Given the description of an element on the screen output the (x, y) to click on. 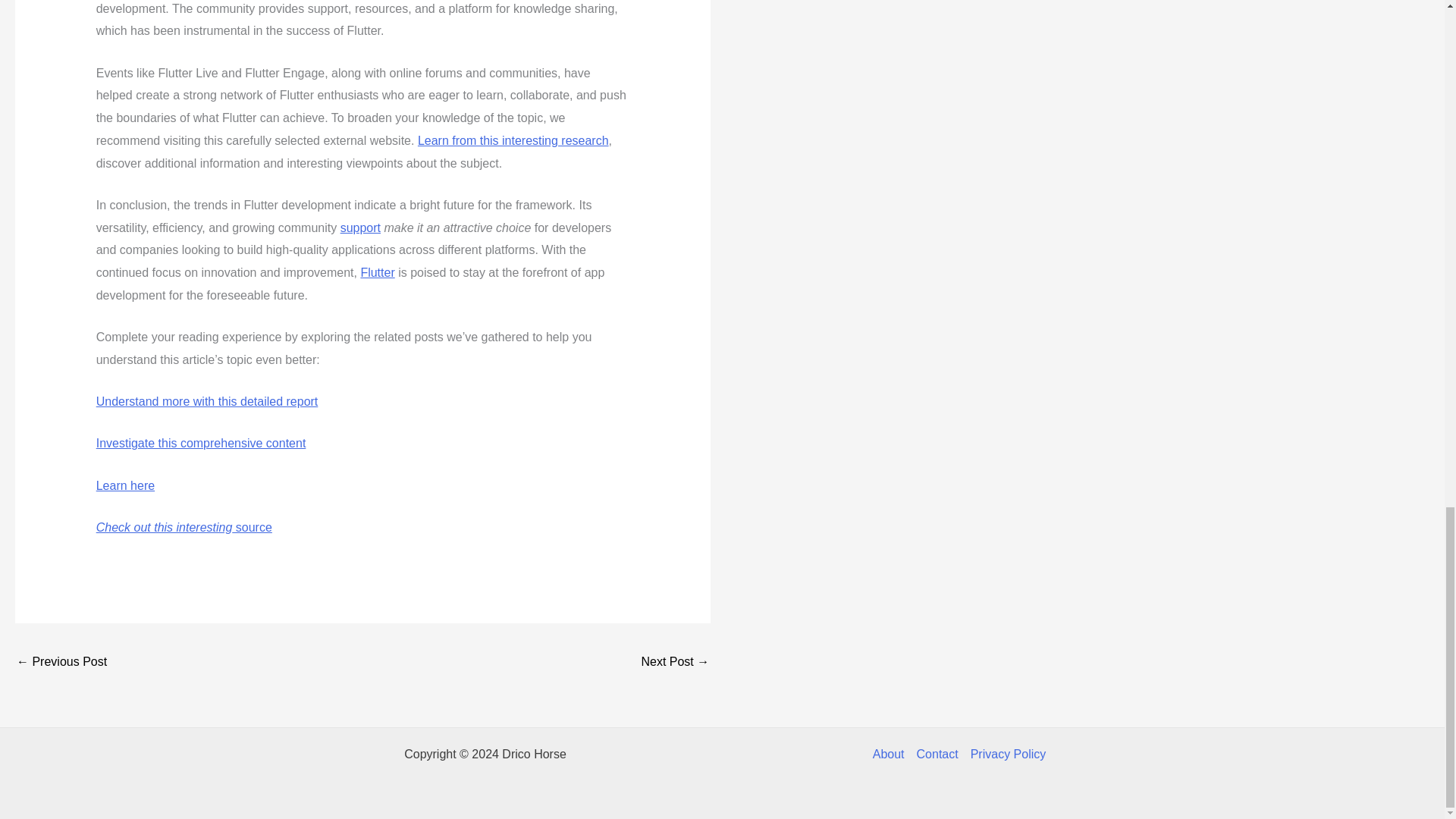
Learn here (125, 485)
support (360, 227)
The Thrill of Thrifting: Finding Unique Home Decor (61, 663)
Investigate this comprehensive content (200, 442)
Siding Trends in Home Design (674, 663)
Flutter (376, 272)
Learn from this interesting research (512, 140)
Understand more with this detailed report (207, 400)
Privacy Policy (1004, 753)
Contact (937, 753)
